Given the description of an element on the screen output the (x, y) to click on. 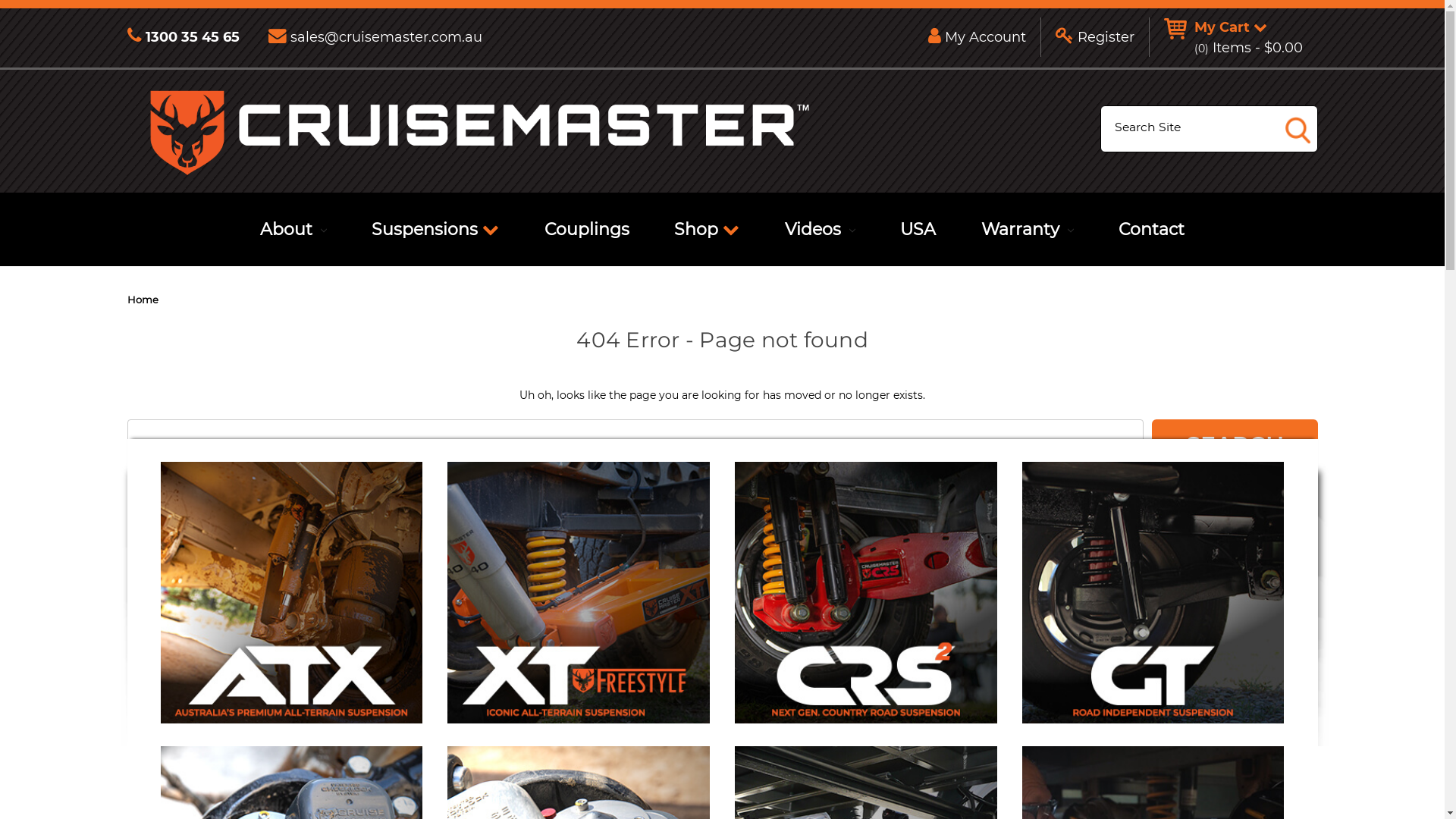
Shop Element type: text (706, 228)
Warranty Element type: text (1027, 228)
sales@cruisemaster.com.au Element type: text (375, 36)
Cruisemaster Element type: hover (478, 131)
Suspensions Element type: text (434, 228)
Register Element type: text (1095, 36)
My Cart
(0) Items - $0.00 Element type: text (1233, 37)
My Account Element type: text (976, 36)
Home Element type: text (142, 299)
About Element type: text (293, 228)
Contact Element type: text (1151, 228)
Couplings Element type: text (586, 228)
USA Element type: text (917, 228)
Videos Element type: text (819, 228)
1300 35 45 65 Element type: text (190, 36)
Search Element type: text (1234, 435)
